Given the description of an element on the screen output the (x, y) to click on. 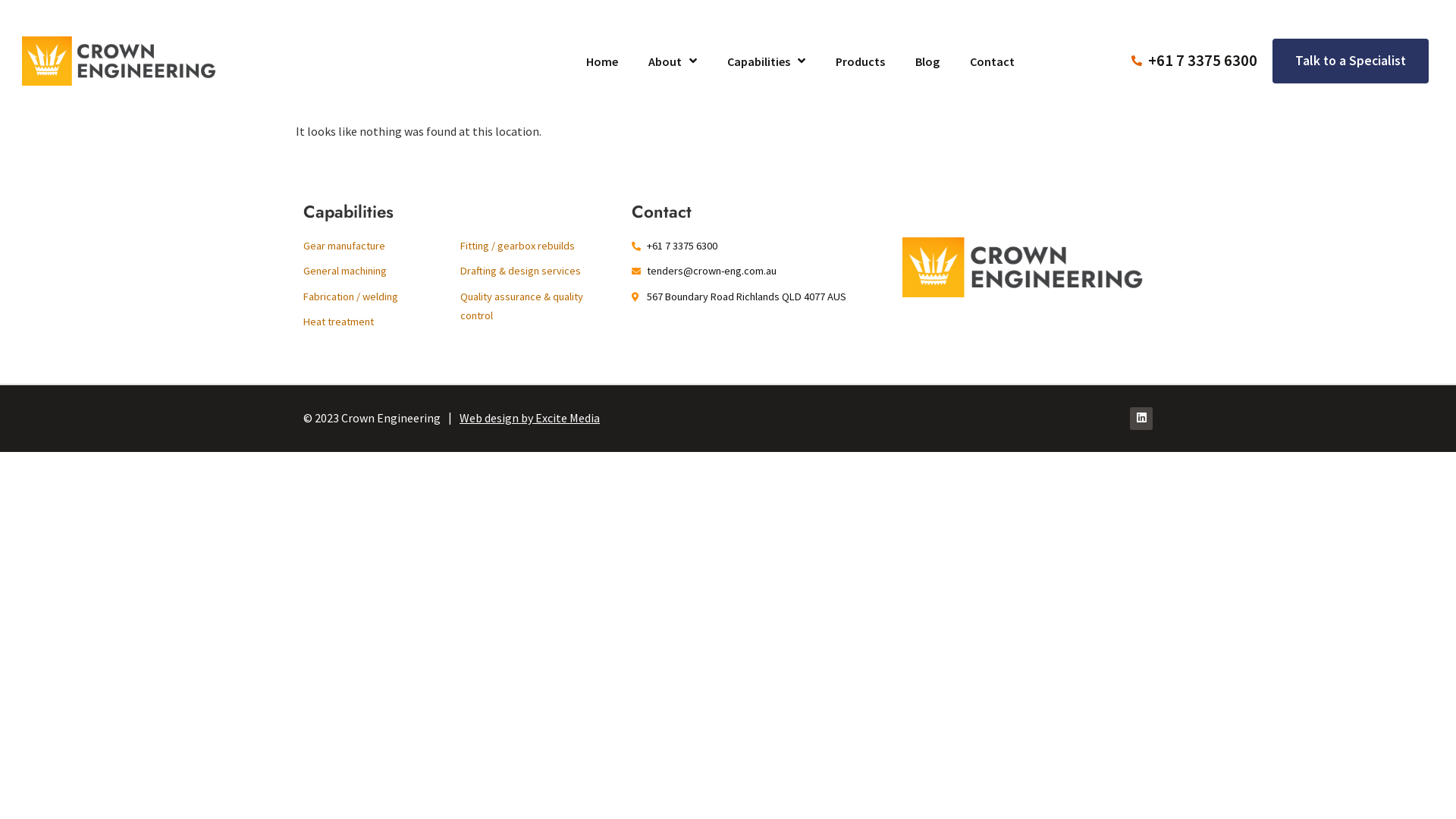
Fitting / gearbox rebuilds Element type: text (538, 246)
+61 7 3375 6300 Element type: text (758, 246)
Talk to a Specialist Element type: text (1350, 60)
567 Boundary Road Richlands QLD 4077 AUS Element type: text (758, 297)
Quality assurance & quality control Element type: text (538, 306)
tenders@crown-eng.com.au Element type: text (758, 271)
Capabilities Element type: text (766, 60)
Blog Element type: text (927, 60)
Heat treatment Element type: text (381, 322)
Products Element type: text (860, 60)
General machining Element type: text (381, 271)
Drafting & design services Element type: text (538, 271)
About Element type: text (672, 60)
Web design by Excite Media Element type: text (529, 417)
Gear manufacture Element type: text (381, 246)
Fabrication / welding Element type: text (381, 297)
Home Element type: text (602, 60)
+61 7 3375 6300 Element type: text (1194, 61)
Contact Element type: text (991, 60)
